Given the description of an element on the screen output the (x, y) to click on. 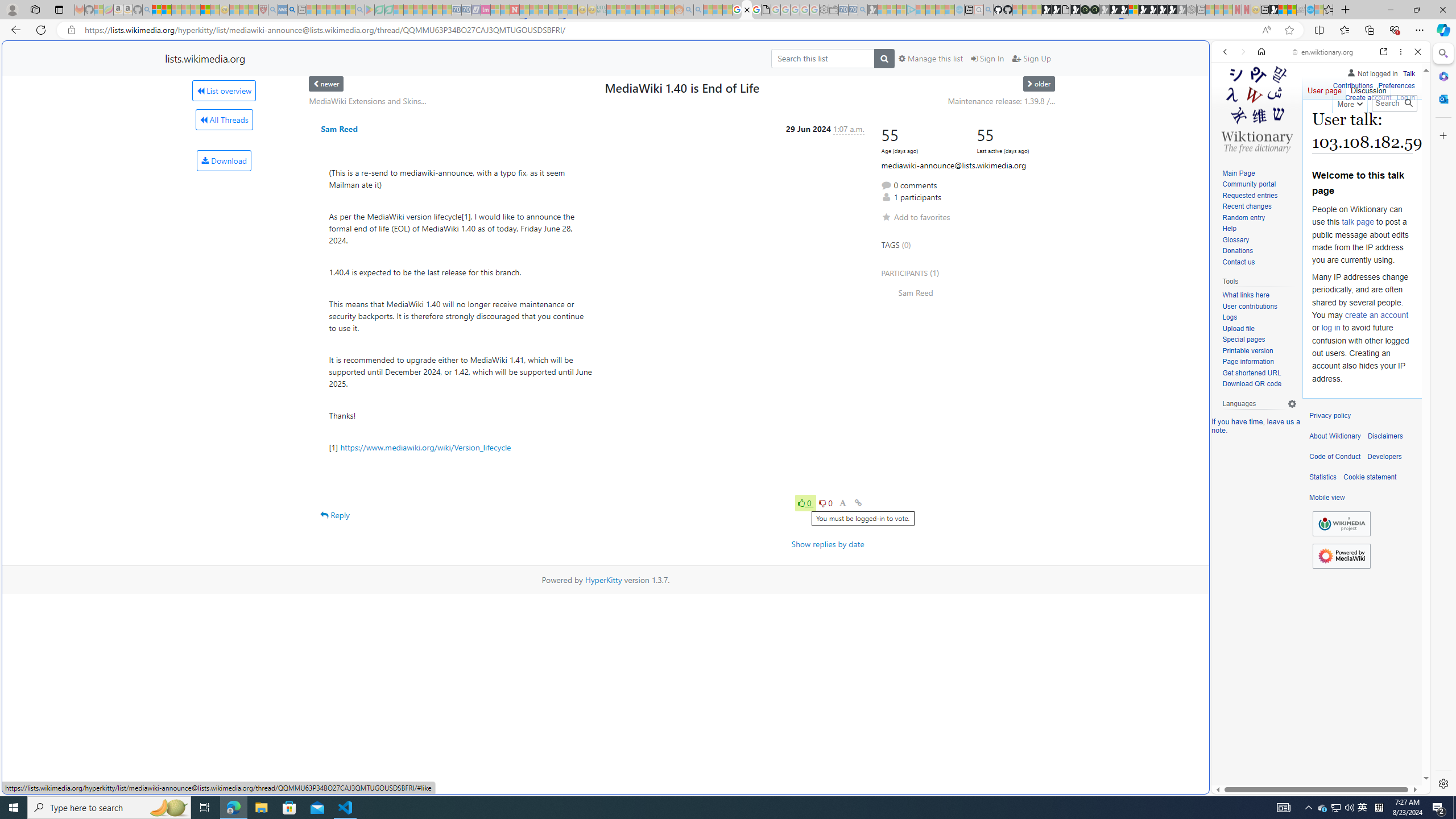
Frequently visited (965, 151)
Code of Conduct (1334, 456)
Developers (1384, 456)
Recent changes (1246, 206)
Discussion (1367, 87)
Contact us (1259, 262)
